Given the description of an element on the screen output the (x, y) to click on. 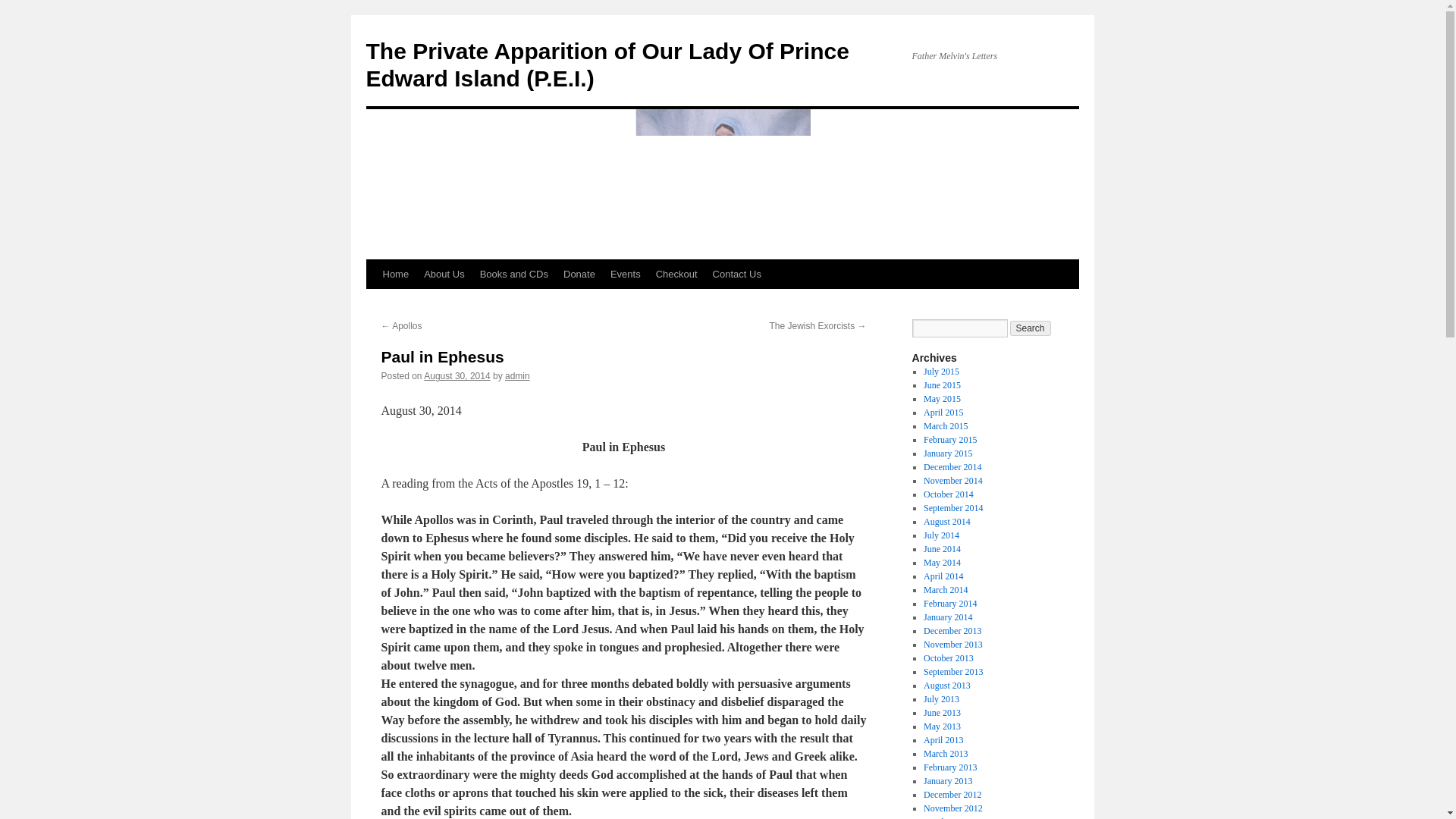
Checkout (675, 274)
Books and CDs (513, 274)
Donate (579, 274)
Home (395, 274)
December 2014 (952, 466)
5:30 am (456, 376)
Search (1030, 328)
January 2015 (947, 452)
March 2015 (945, 425)
Search (1030, 328)
